Given the description of an element on the screen output the (x, y) to click on. 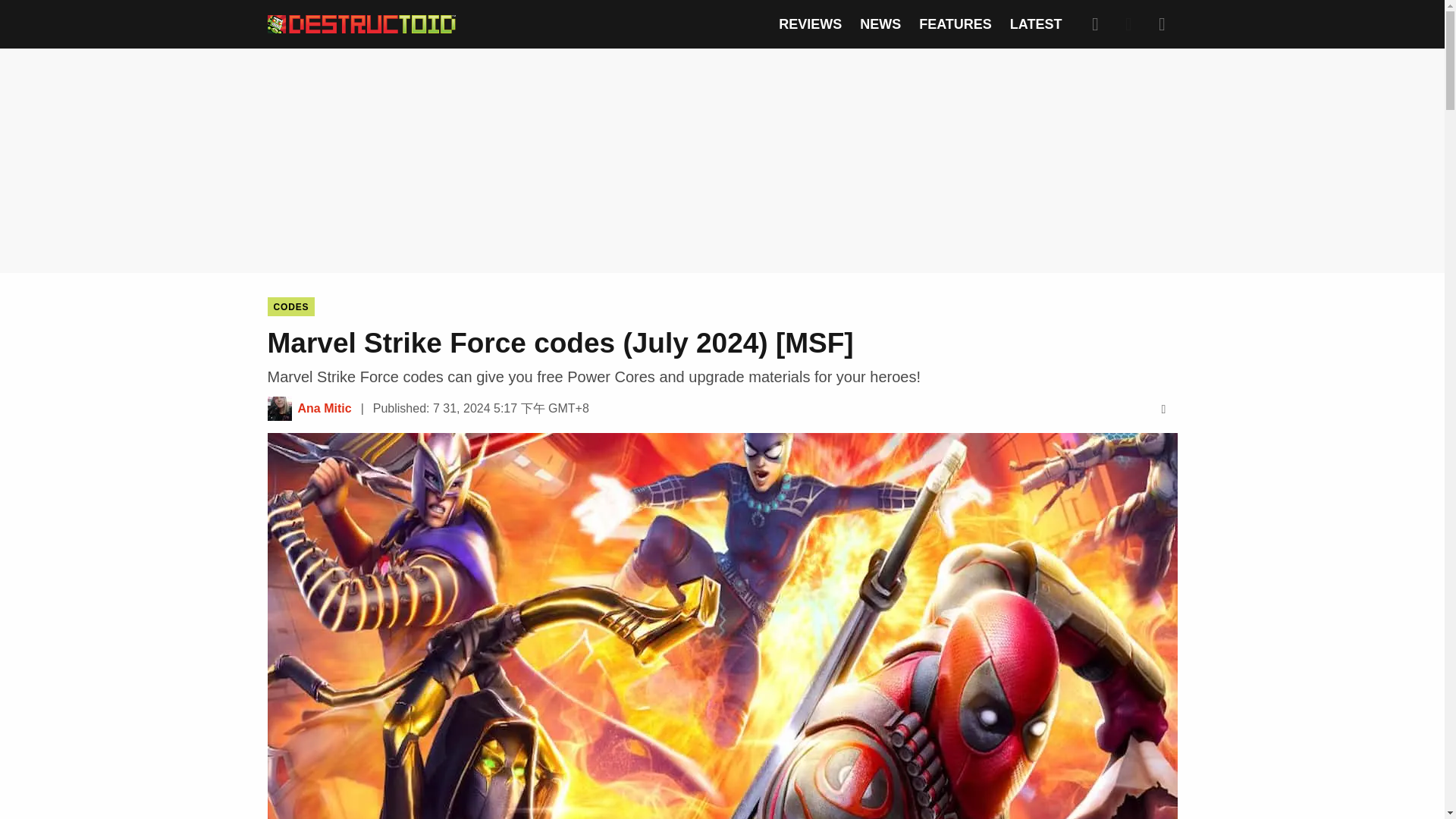
Search (1094, 24)
CODES (290, 306)
FEATURES (954, 23)
REVIEWS (809, 23)
NEWS (880, 23)
LATEST (1036, 23)
Dark Mode (1127, 24)
Expand Menu (1161, 24)
